Given the description of an element on the screen output the (x, y) to click on. 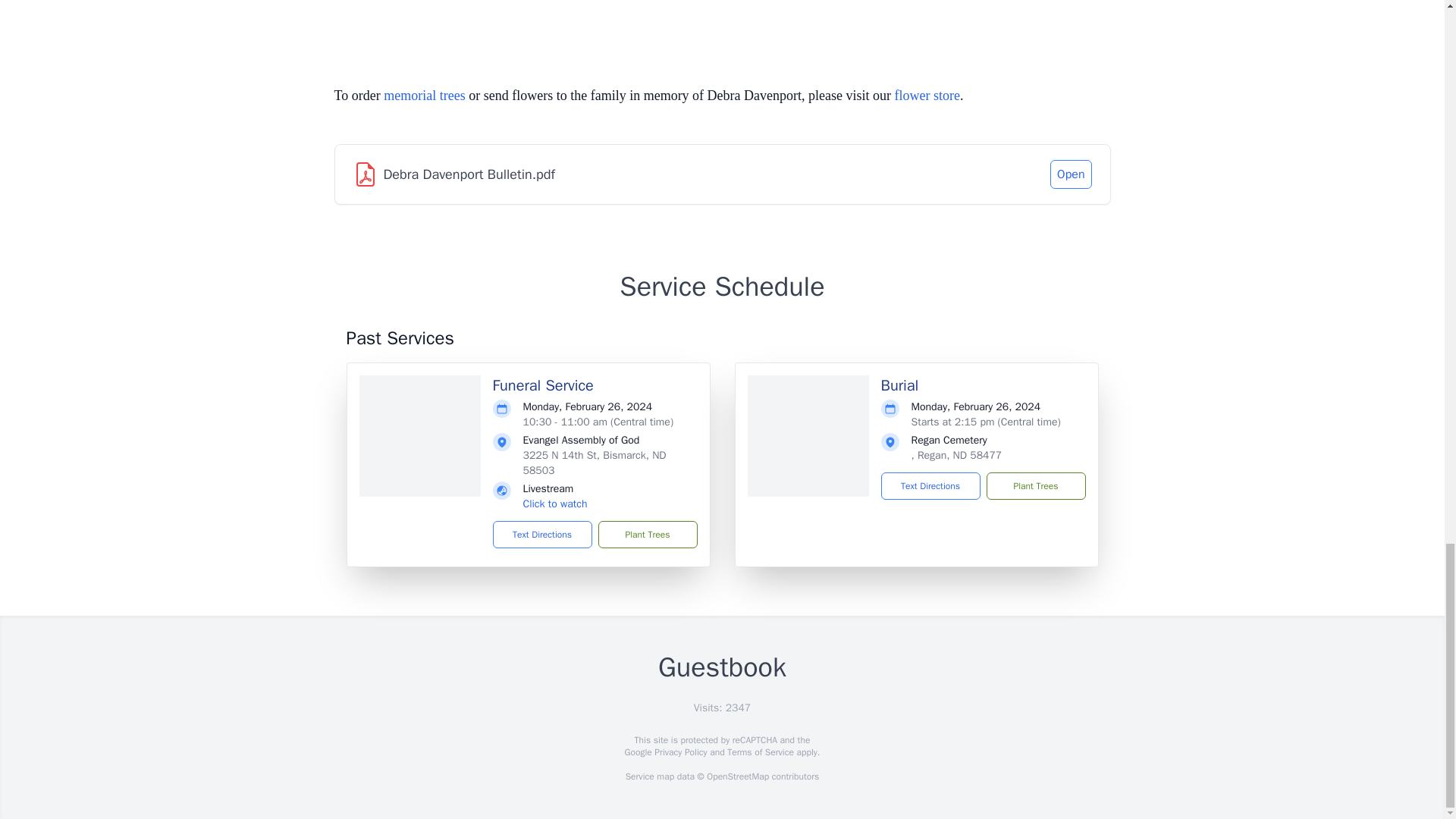
Click to watch (555, 503)
Text Directions (542, 533)
Privacy Policy (679, 752)
Terms of Service (759, 752)
Text Directions (929, 485)
, Regan, ND 58477 (957, 454)
Plant Trees (646, 533)
Plant Trees (1034, 485)
memorial trees (424, 95)
Open (1069, 174)
flower store (927, 95)
OpenStreetMap (737, 776)
3225 N 14th St, Bismarck, ND 58503 (594, 462)
